Given the description of an element on the screen output the (x, y) to click on. 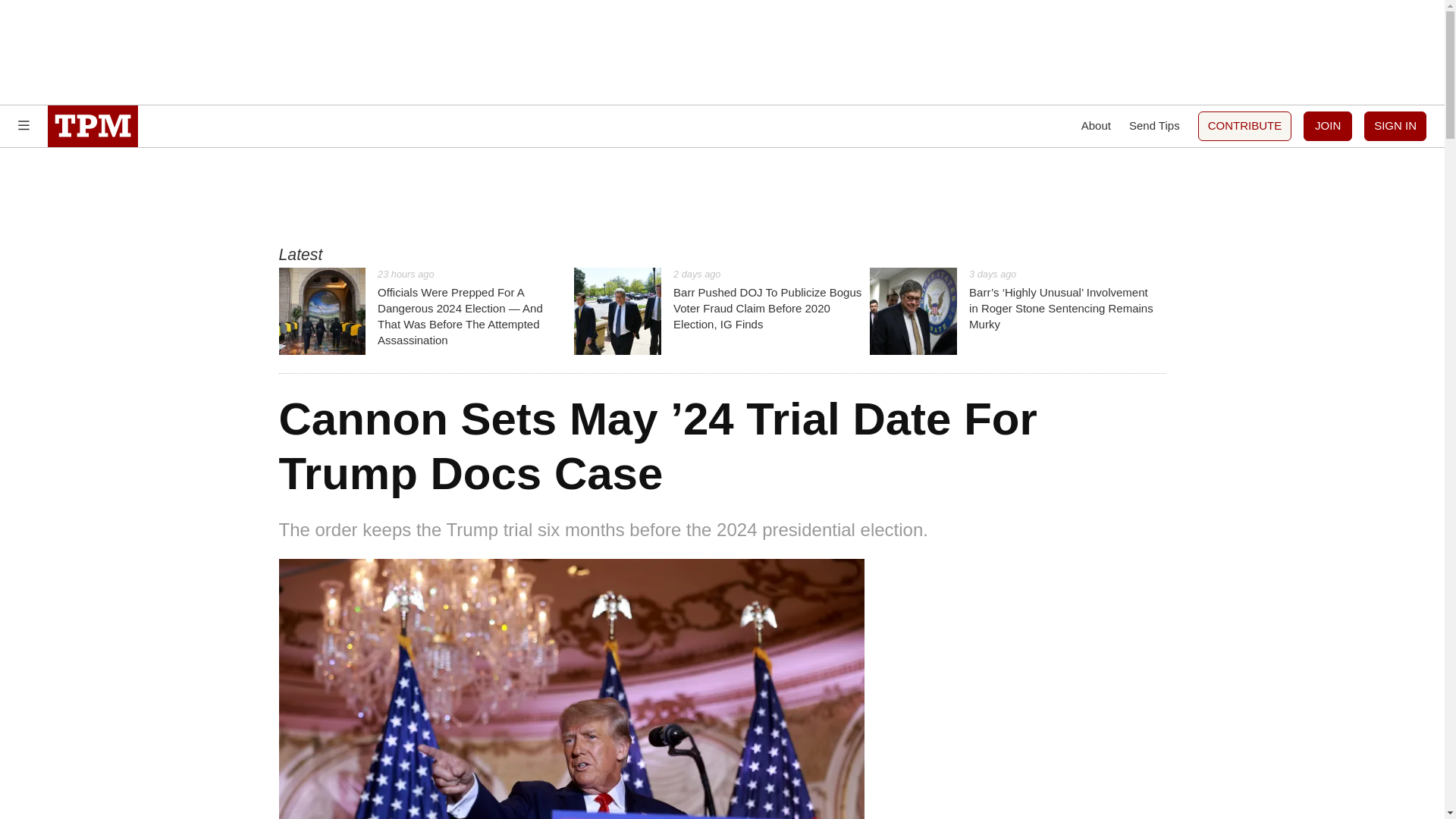
3rd party ad content (721, 52)
SIGN IN (1395, 125)
JOIN (1327, 125)
CONTRIBUTE (1245, 125)
Send Tips (1154, 125)
3rd party ad content (721, 196)
About (1095, 125)
